Given the description of an element on the screen output the (x, y) to click on. 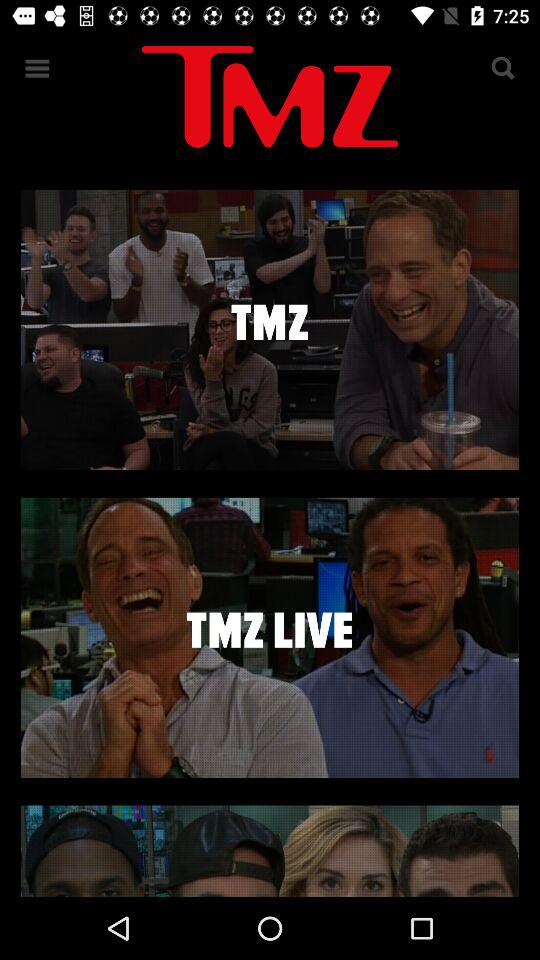
select page (270, 637)
